Given the description of an element on the screen output the (x, y) to click on. 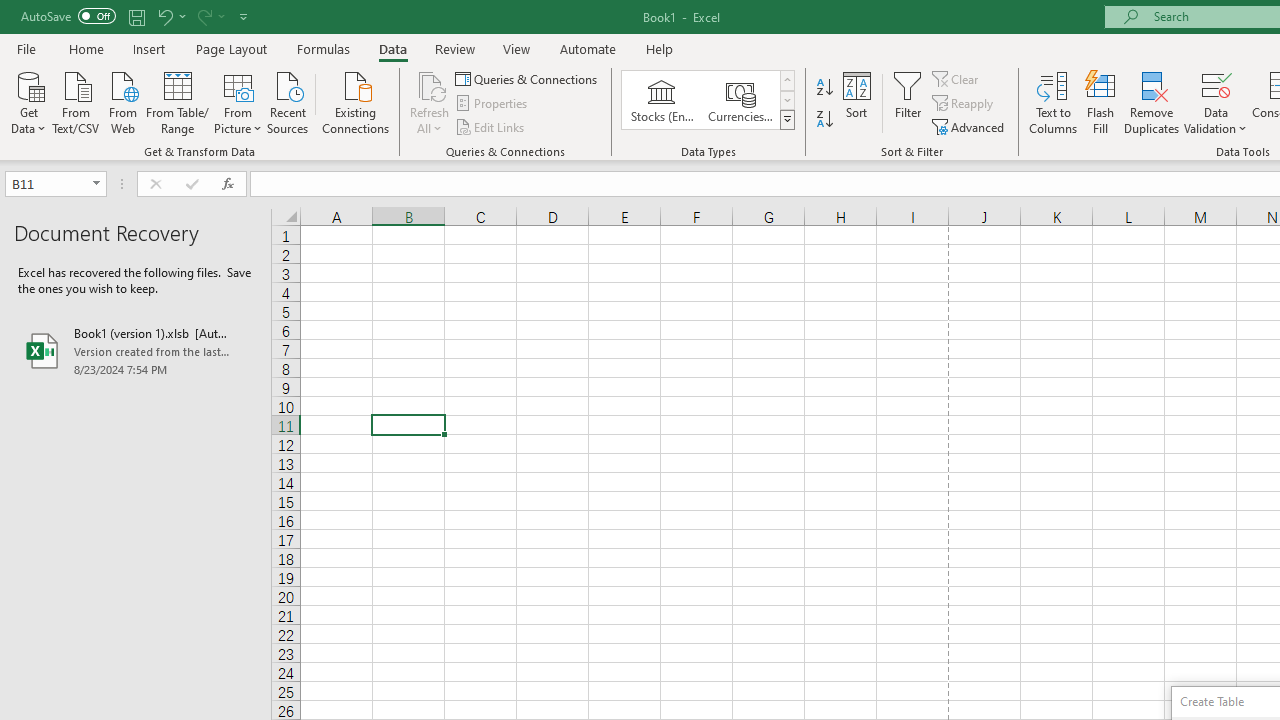
Sort A to Z (824, 87)
